Given the description of an element on the screen output the (x, y) to click on. 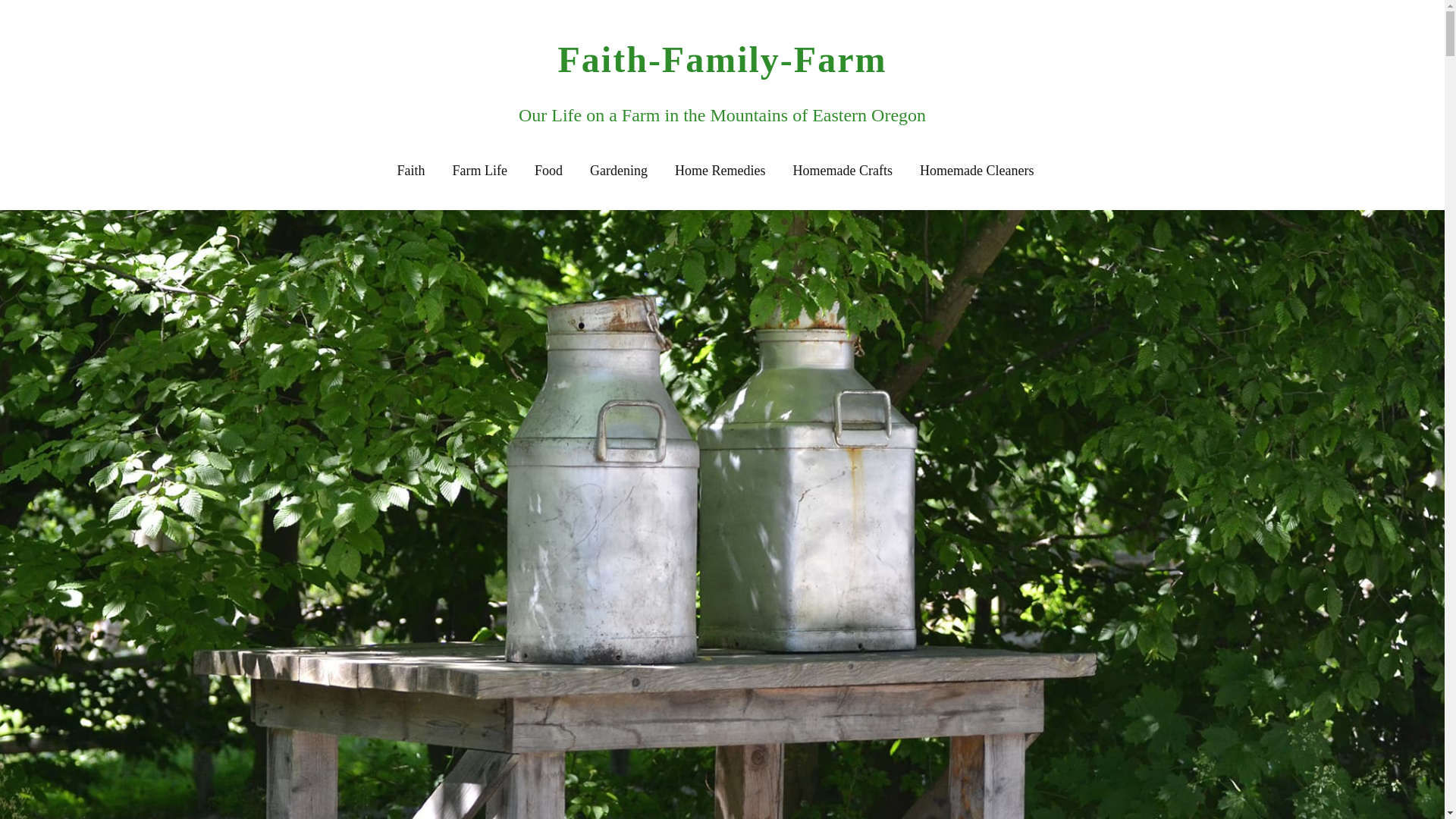
Faith-Family-Farm (721, 59)
Food (548, 171)
Homemade Crafts (842, 171)
Farm Life (479, 171)
Home Remedies (720, 171)
Gardening (618, 171)
Homemade Cleaners (976, 171)
Faith (411, 171)
